Given the description of an element on the screen output the (x, y) to click on. 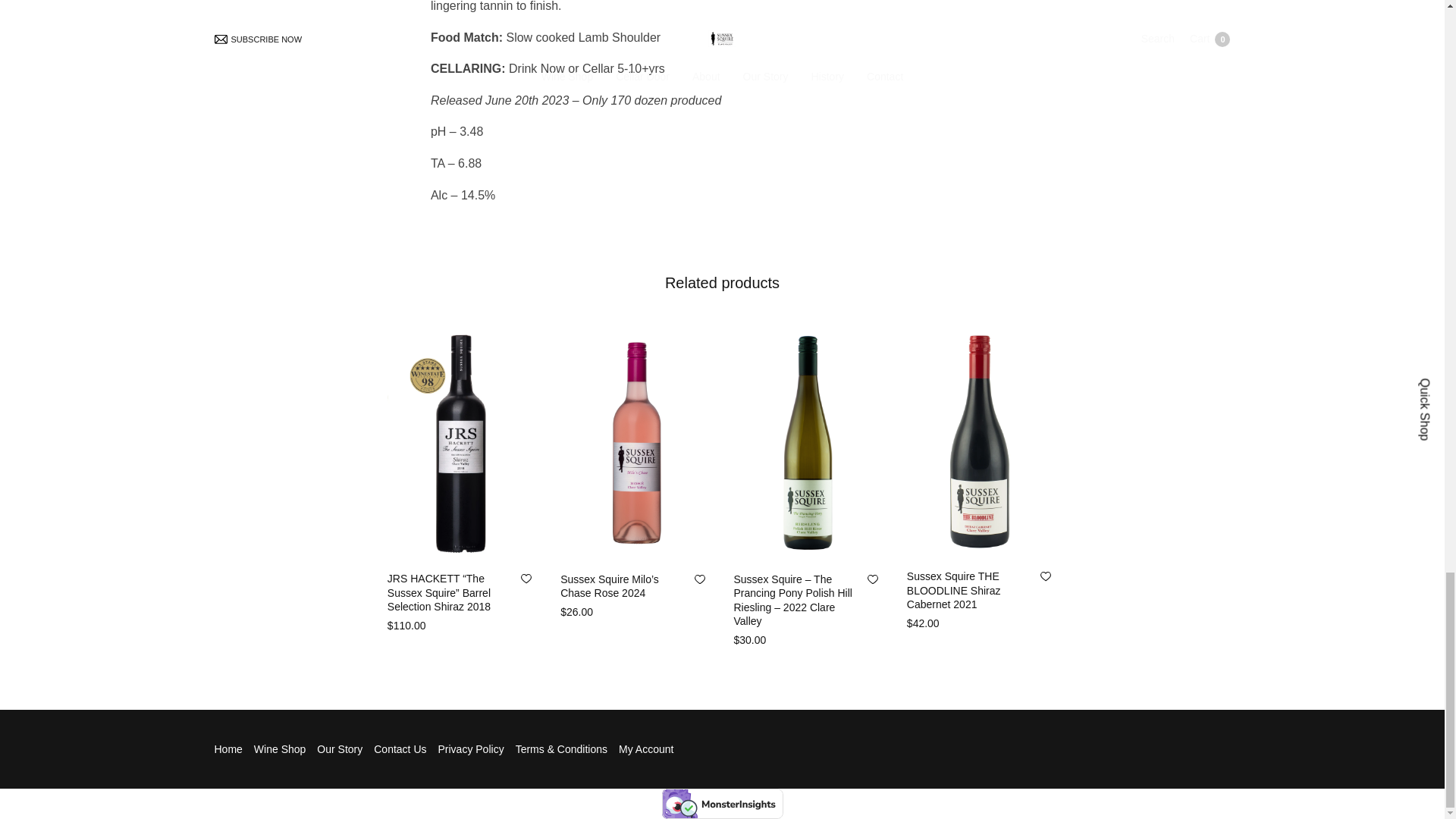
Sussex Squire THE BLOODLINE Shiraz Cabernet 2021 (954, 589)
